Given the description of an element on the screen output the (x, y) to click on. 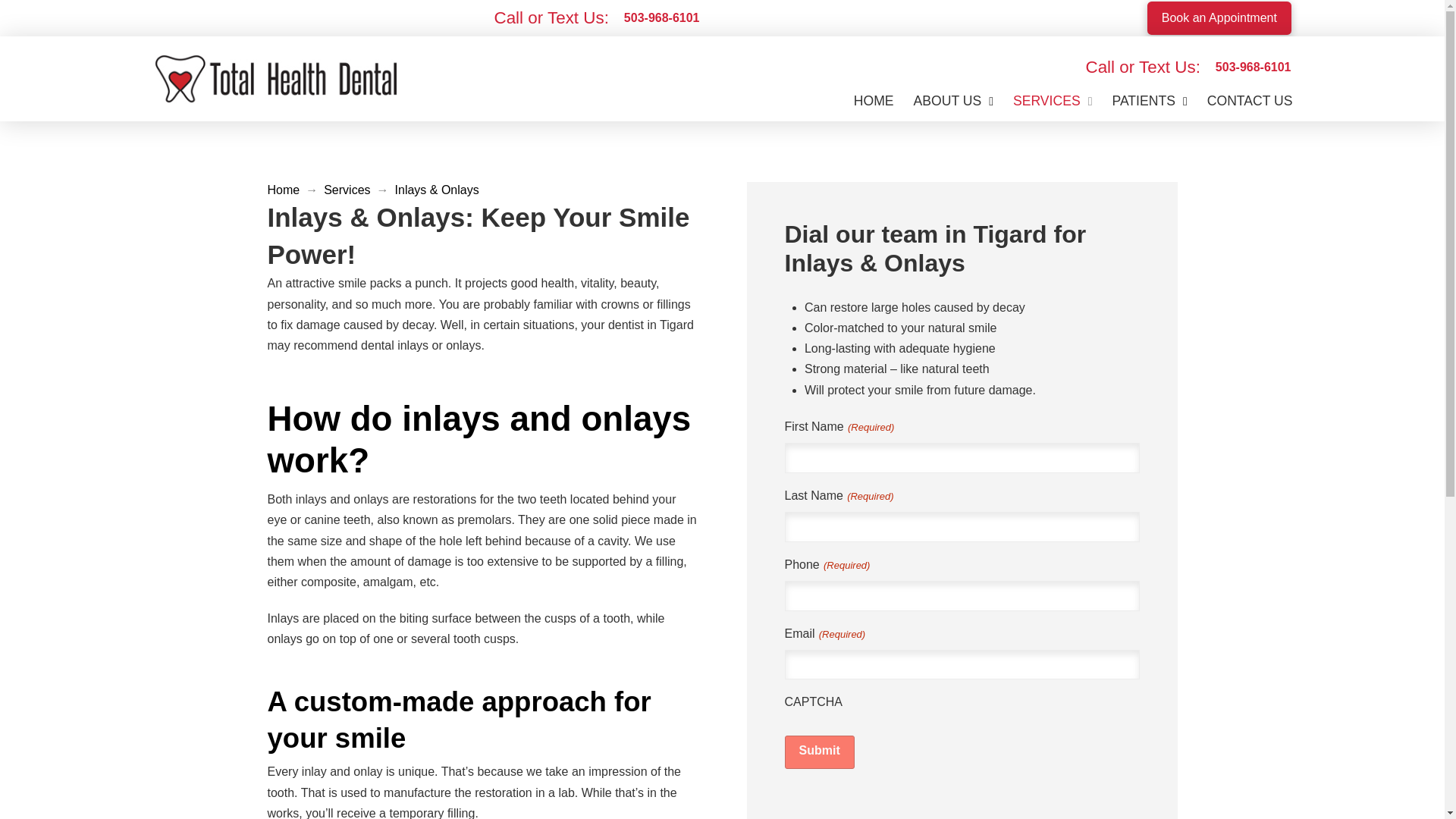
ABOUT US (953, 101)
Home (282, 190)
You Are Here (436, 190)
Book an Appointment (1218, 18)
503-968-6101 (661, 21)
Submit (818, 752)
Services (346, 190)
HOME (874, 101)
PATIENTS (1149, 101)
SERVICES (1052, 101)
CONTACT US (1249, 101)
Submit (818, 752)
503-968-6101 (1252, 66)
